Given the description of an element on the screen output the (x, y) to click on. 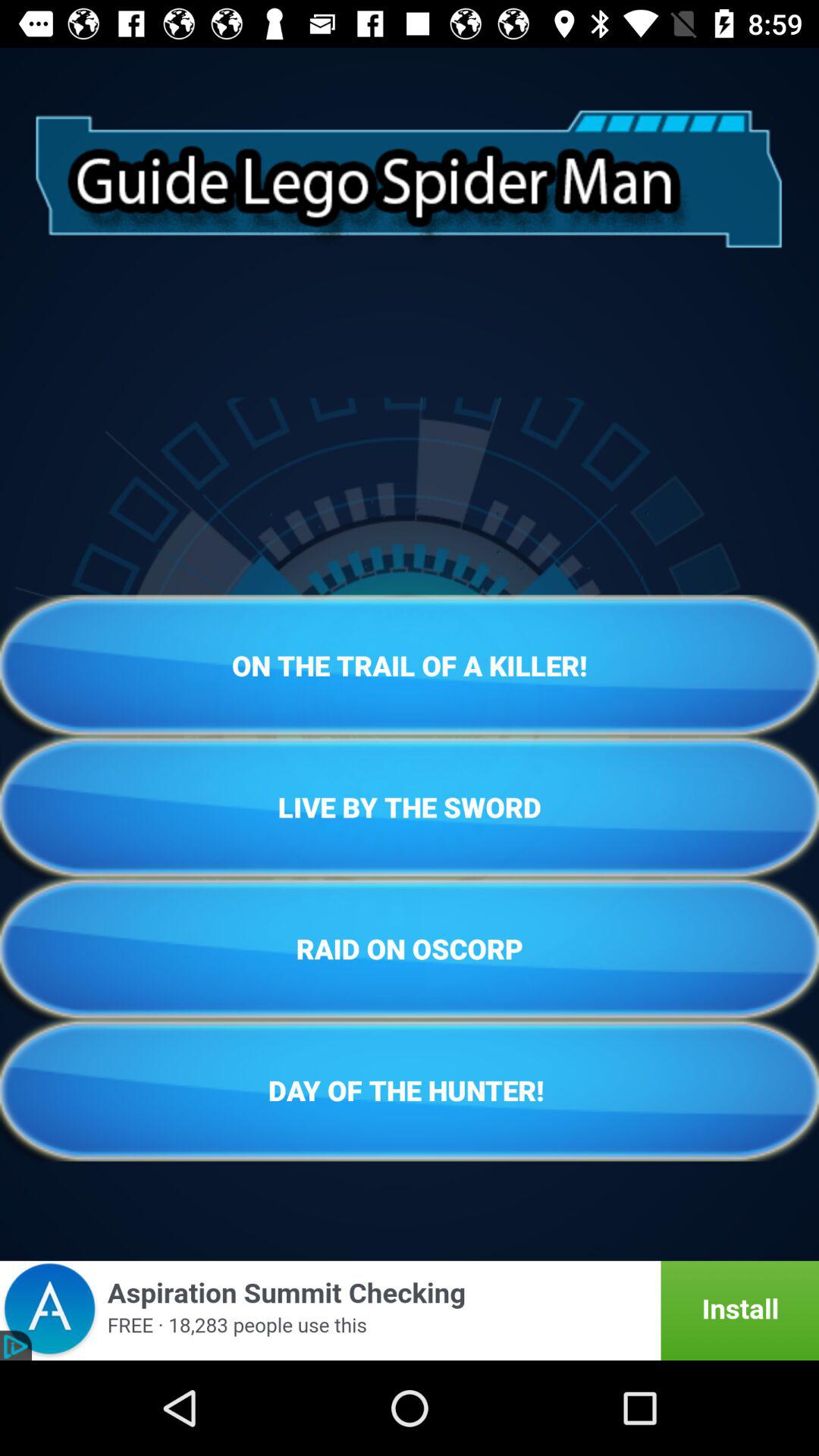
install aspiration (409, 1310)
